Given the description of an element on the screen output the (x, y) to click on. 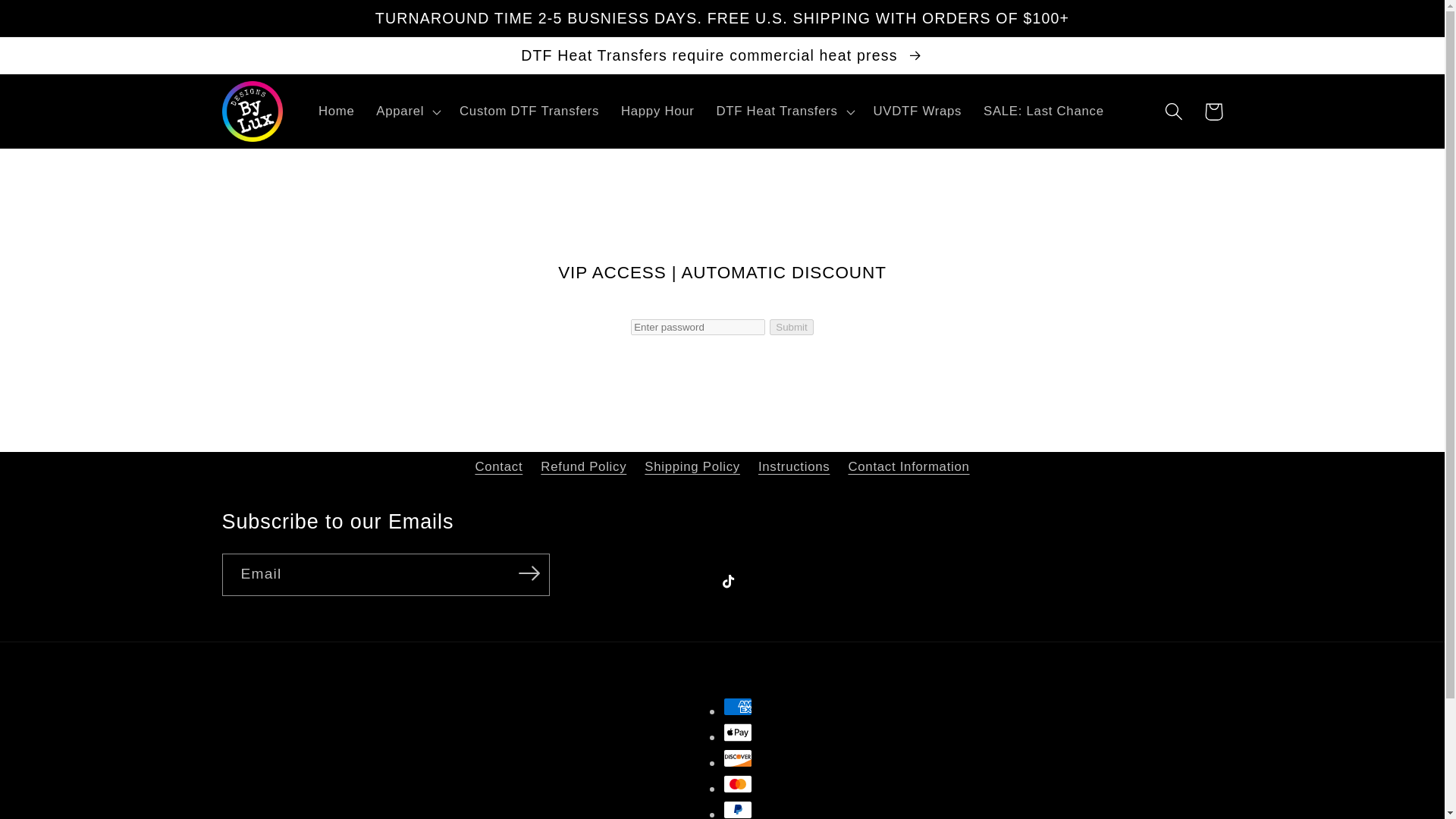
Submit (791, 326)
PayPal (737, 809)
American Express (737, 706)
Home (336, 111)
Skip to content (56, 21)
Apple Pay (737, 732)
Discover (737, 758)
Custom DTF Transfers (529, 111)
Cart (1213, 111)
Happy Hour (657, 111)
Mastercard (737, 783)
SALE: Last Chance (1043, 111)
UVDTF Wraps (916, 111)
